Given the description of an element on the screen output the (x, y) to click on. 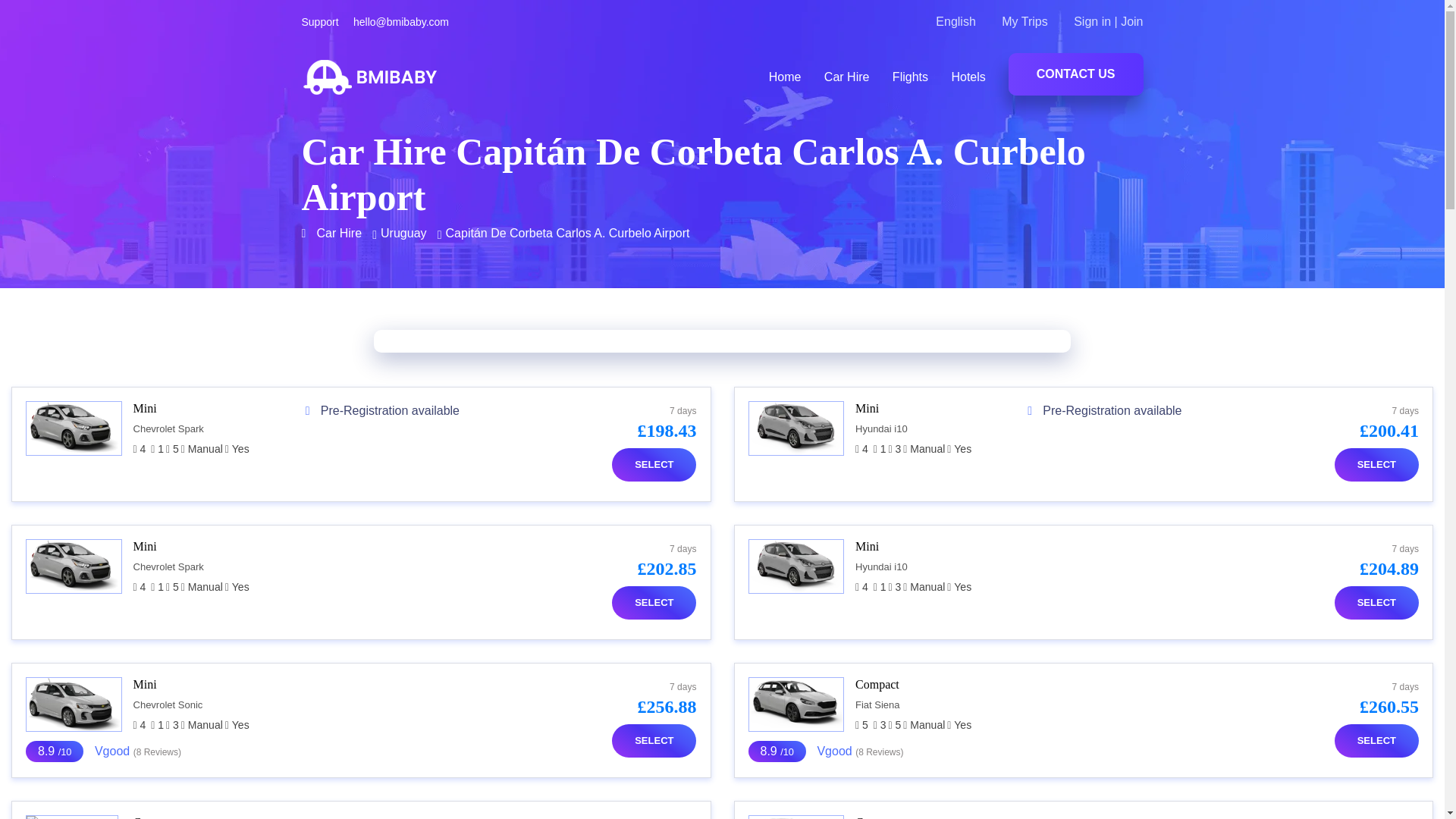
Car Hire (846, 76)
Flights (909, 76)
CONTACT US (1075, 74)
Car Hire (339, 232)
Hotels (967, 76)
Uruguay (403, 232)
Home (784, 76)
Support (320, 21)
